Given the description of an element on the screen output the (x, y) to click on. 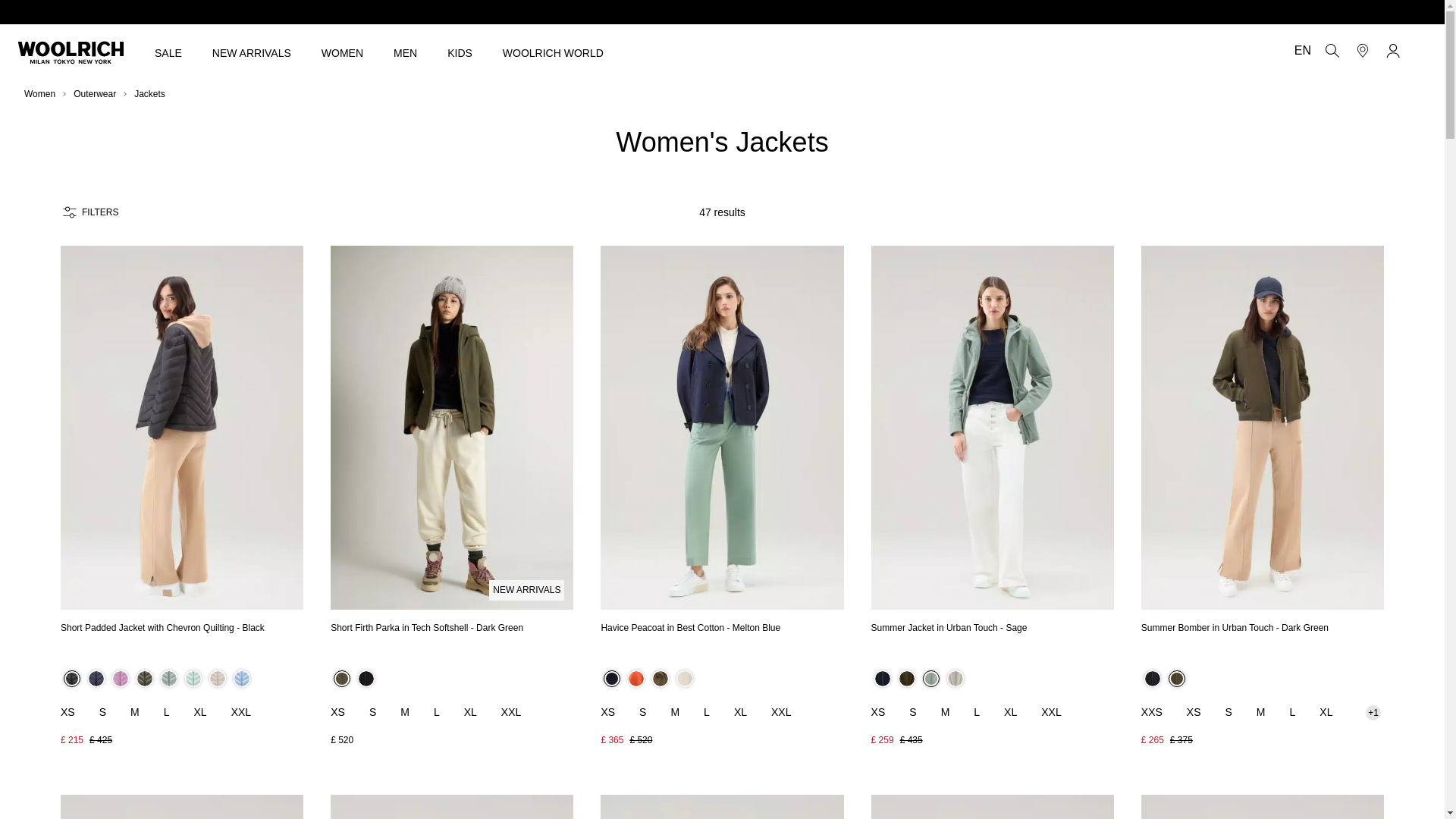
EN (1301, 49)
Melton Blue (95, 678)
Light Oak (217, 678)
Outerwear (95, 93)
Pale Indigo (241, 678)
Koi (636, 678)
Smoky Rose (120, 678)
Dark Green (144, 678)
KIDS (458, 52)
Black (366, 678)
